Given the description of an element on the screen output the (x, y) to click on. 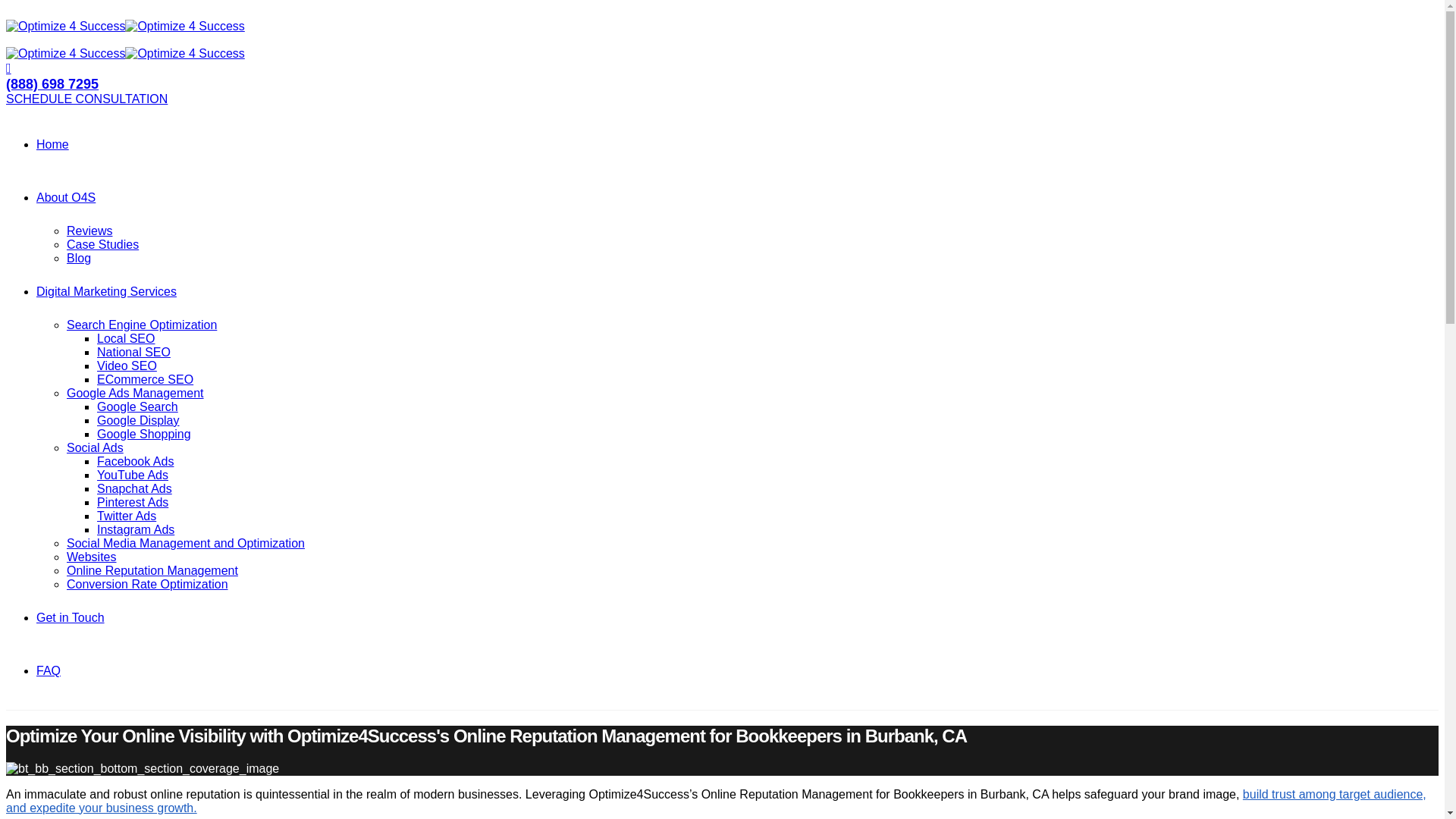
National SEO (133, 351)
Case Studies (102, 244)
Search Engine Optimization (141, 324)
Instagram Ads (135, 529)
Home (52, 144)
About O4S (66, 196)
Social Ads (94, 447)
Social Media Management and Optimization (185, 543)
Google Search (137, 406)
FAQ (48, 670)
ECommerce SEO (145, 379)
Google Shopping (143, 433)
Local SEO (125, 338)
Facebook Ads (135, 461)
